Given the description of an element on the screen output the (x, y) to click on. 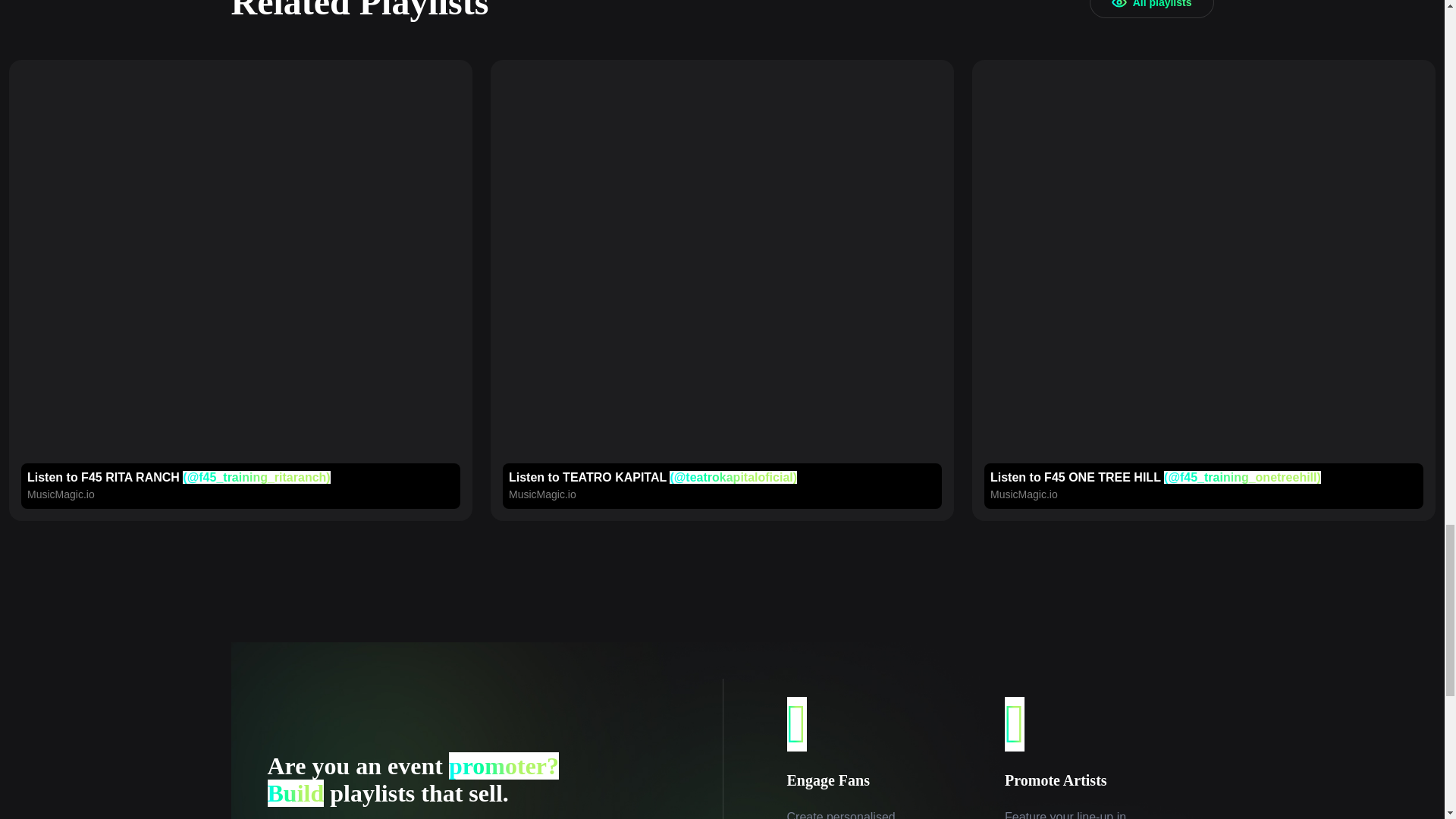
All playlists (1151, 9)
